Given the description of an element on the screen output the (x, y) to click on. 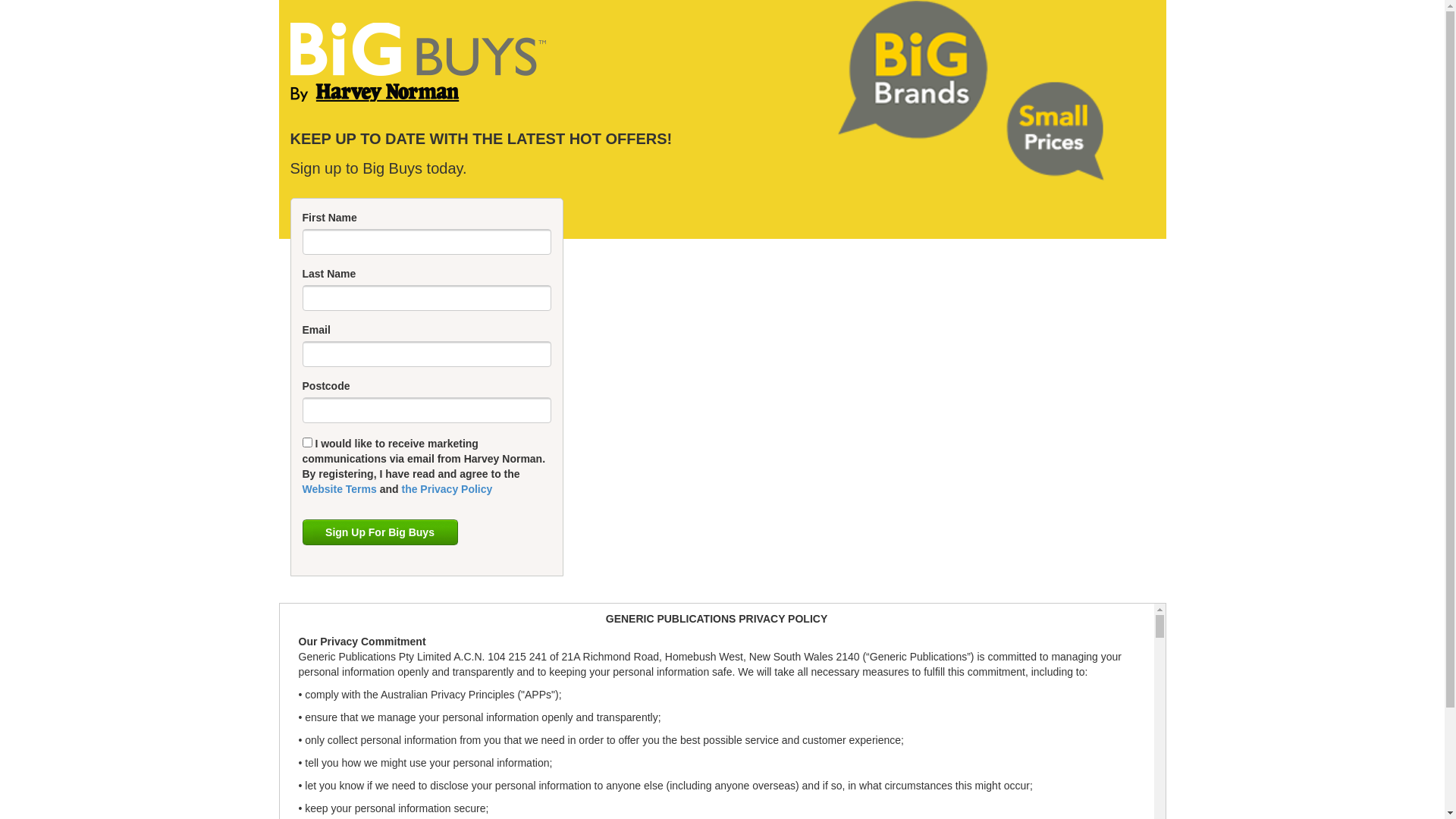
the Privacy Policy Element type: text (446, 489)
Sign Up For Big Buys Element type: text (379, 532)
Website Terms Element type: text (340, 489)
